Given the description of an element on the screen output the (x, y) to click on. 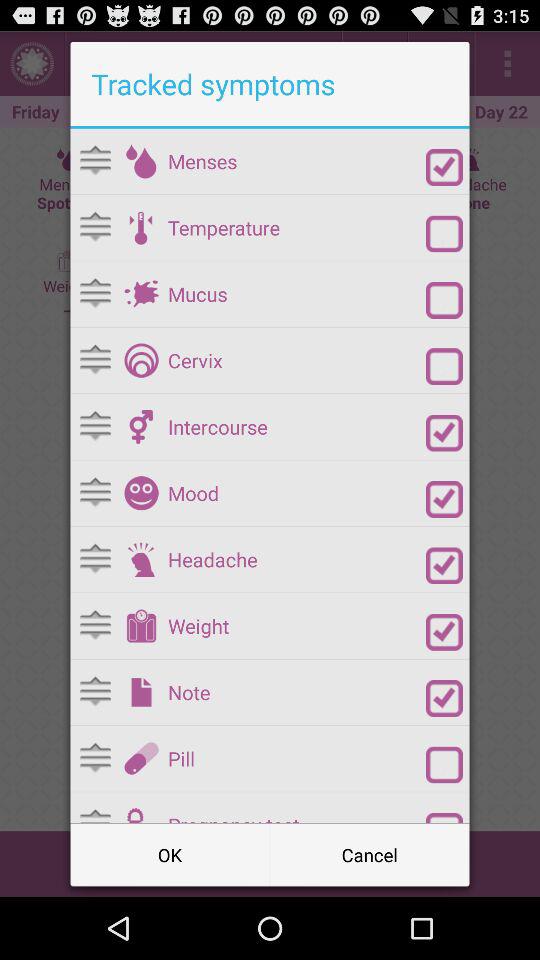
select the cancel item (369, 854)
